Given the description of an element on the screen output the (x, y) to click on. 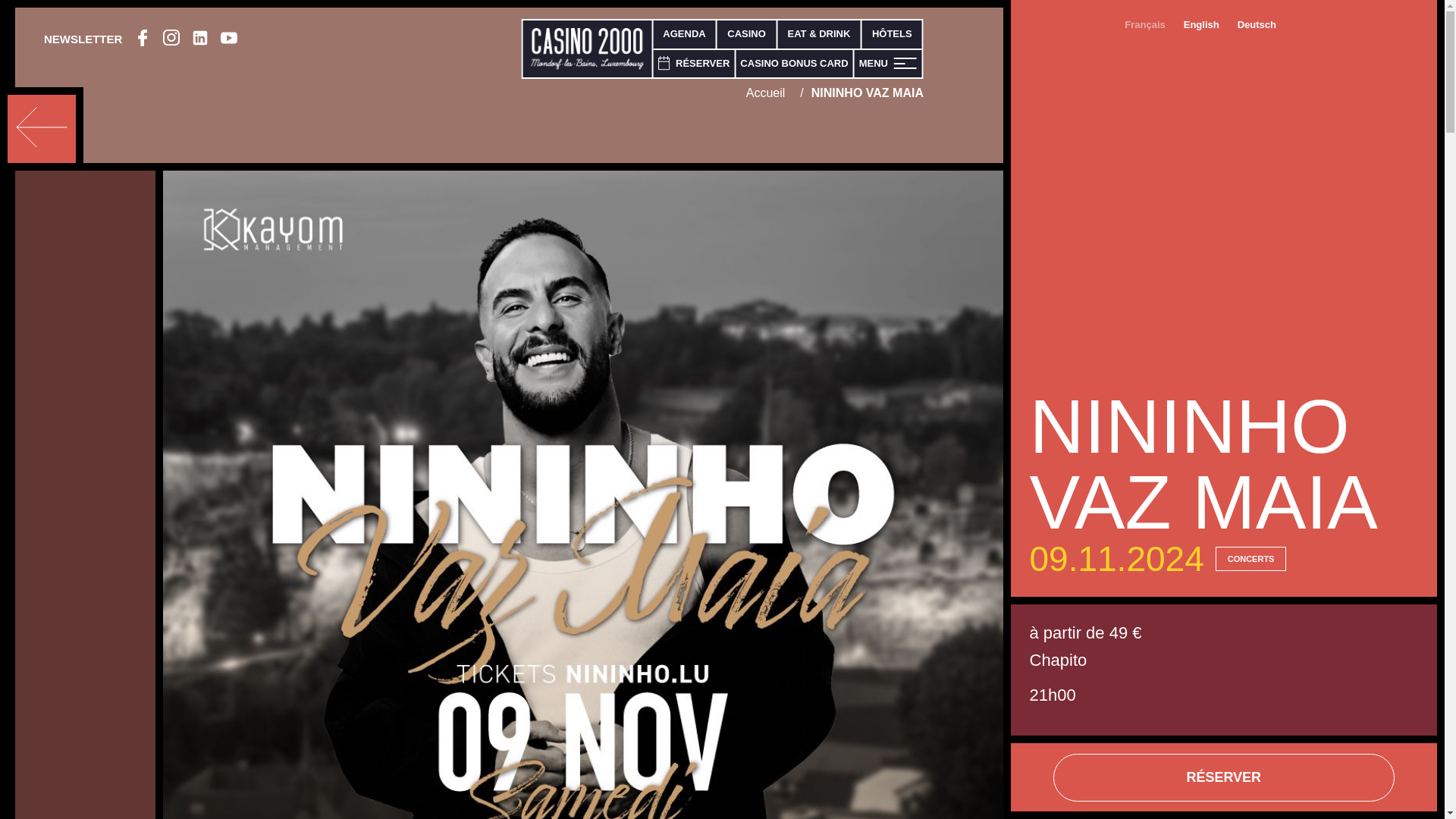
S'inscrire (1039, 562)
